Given the description of an element on the screen output the (x, y) to click on. 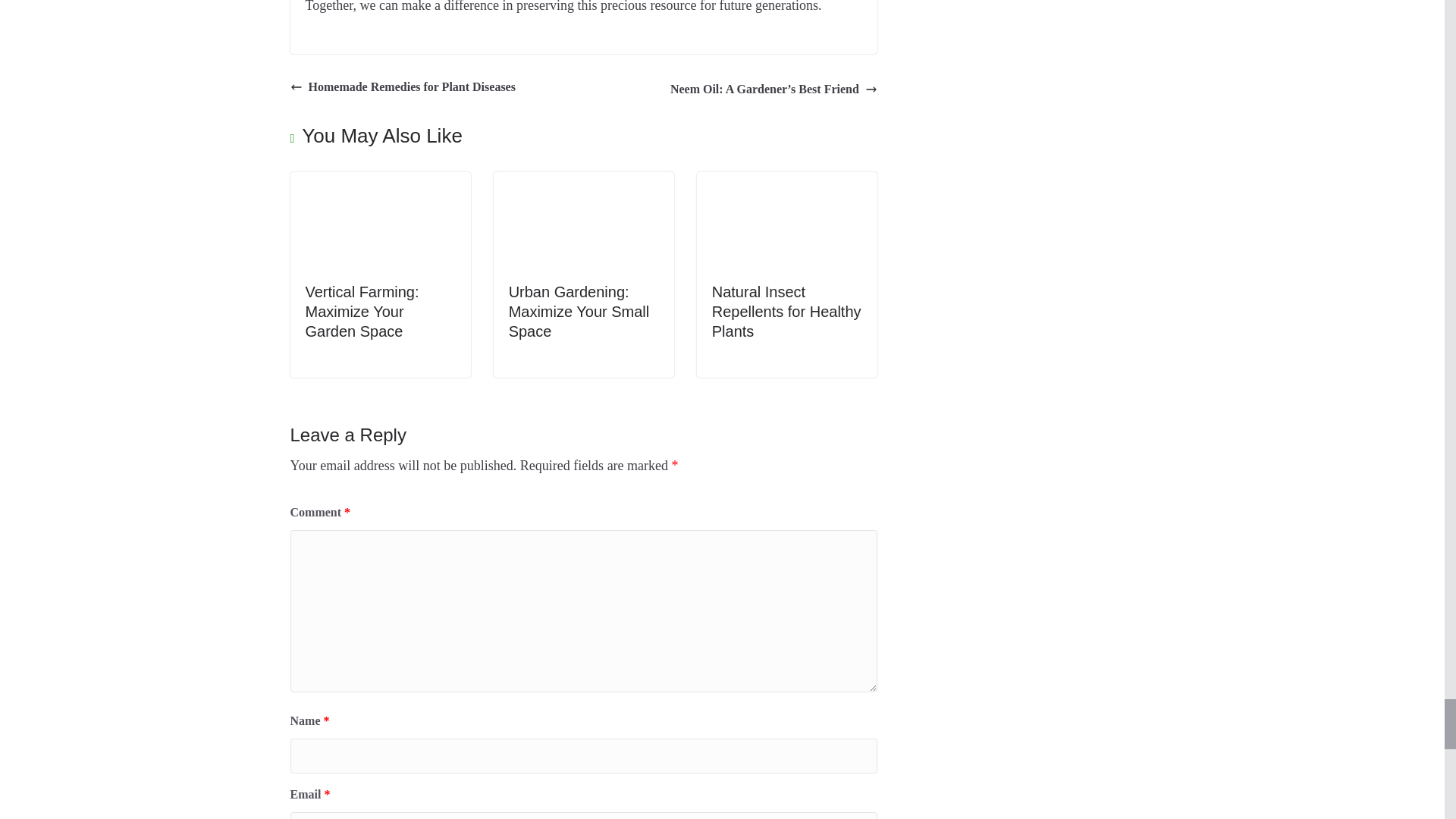
Vertical Farming: Maximize Your Garden Space (361, 311)
Homemade Remedies for Plant Diseases (402, 87)
Vertical Farming: Maximize Your Garden Space (379, 183)
